Given the description of an element on the screen output the (x, y) to click on. 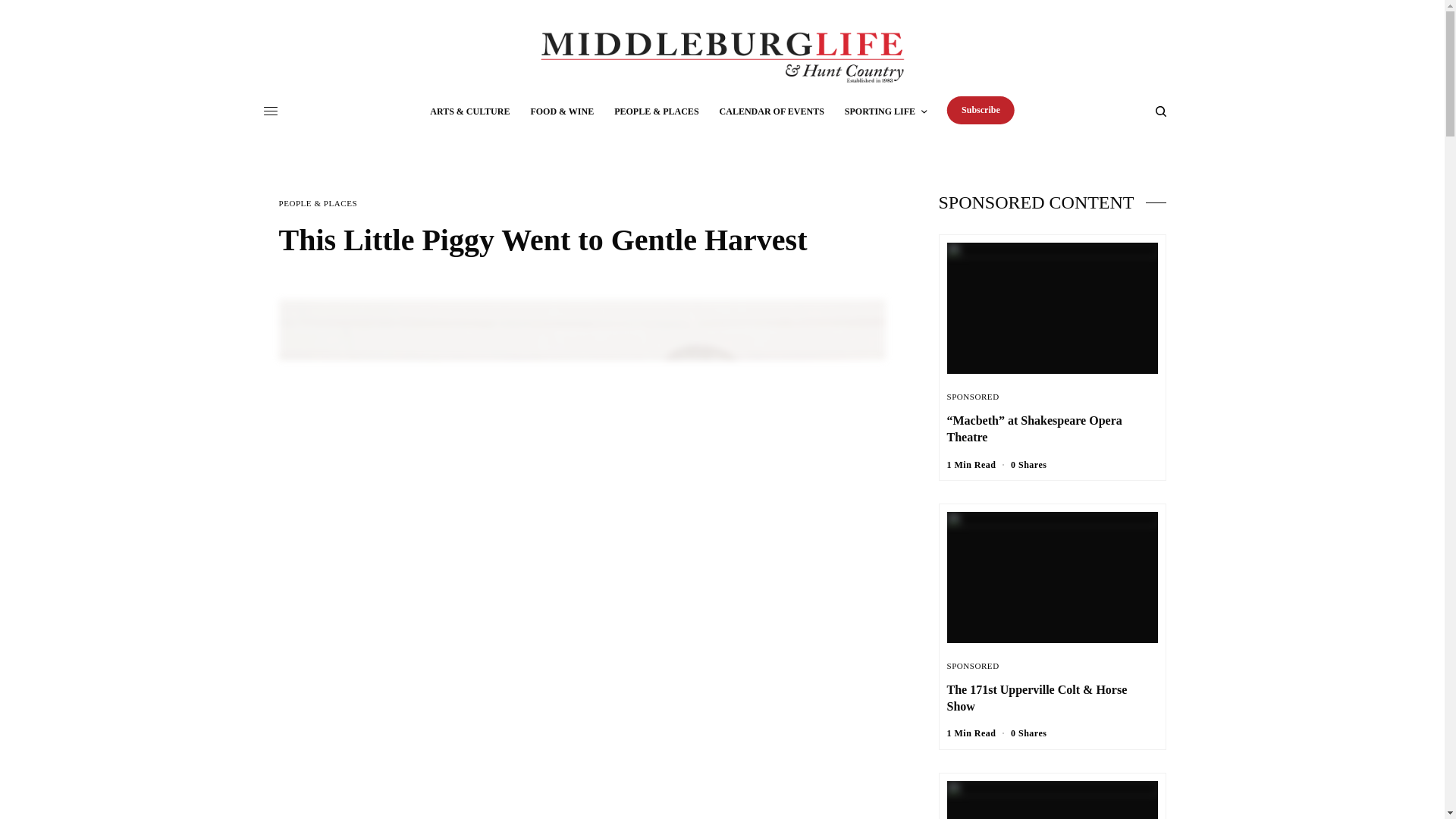
SPORTING LIFE (885, 111)
CALENDAR OF EVENTS (771, 111)
Subscribe (980, 110)
Middleburg Life (721, 57)
